Given the description of an element on the screen output the (x, y) to click on. 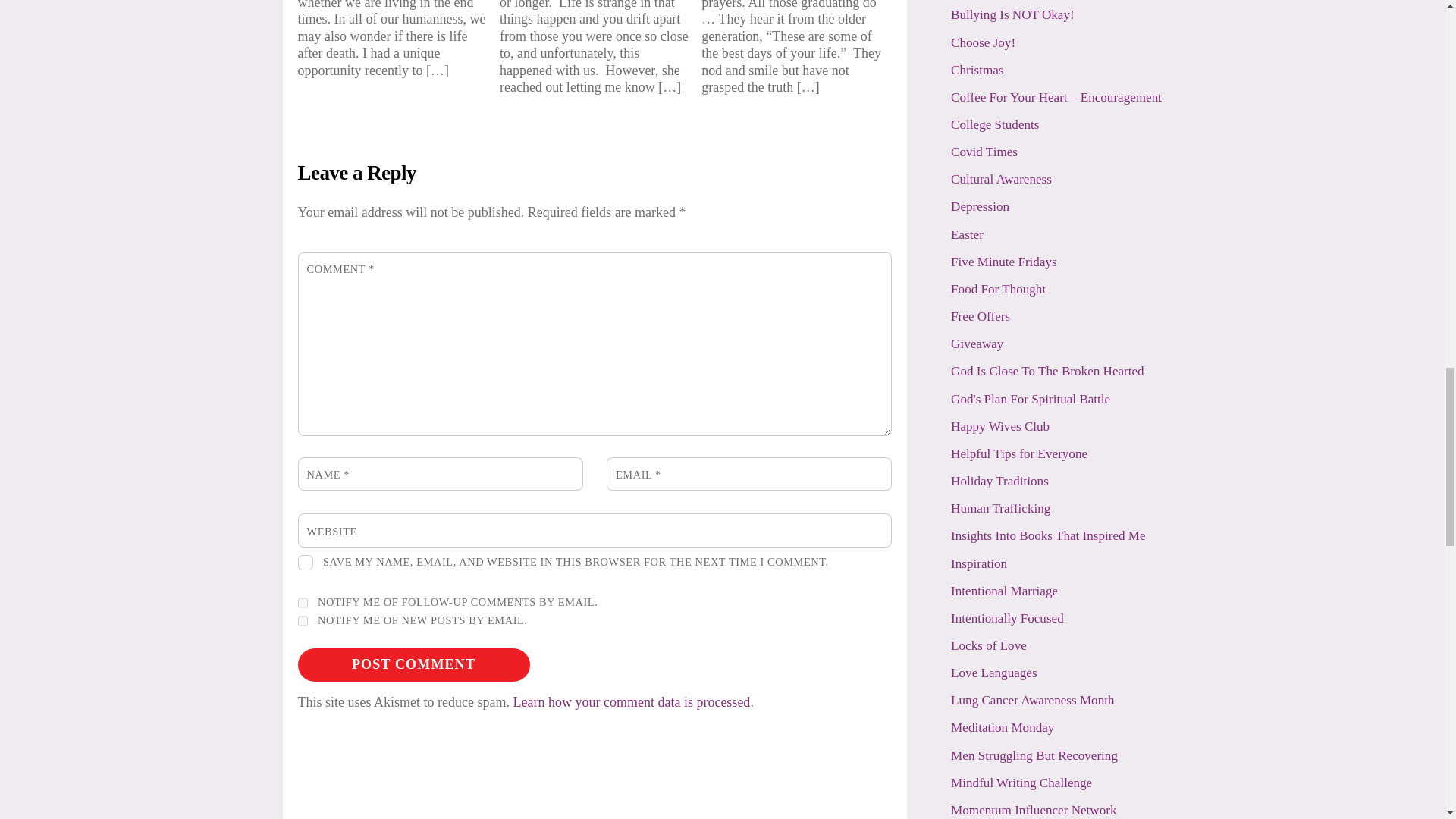
Post Comment (413, 664)
Post Comment (413, 664)
subscribe (302, 620)
Learn how your comment data is processed (630, 702)
subscribe (302, 602)
yes (305, 562)
